Given the description of an element on the screen output the (x, y) to click on. 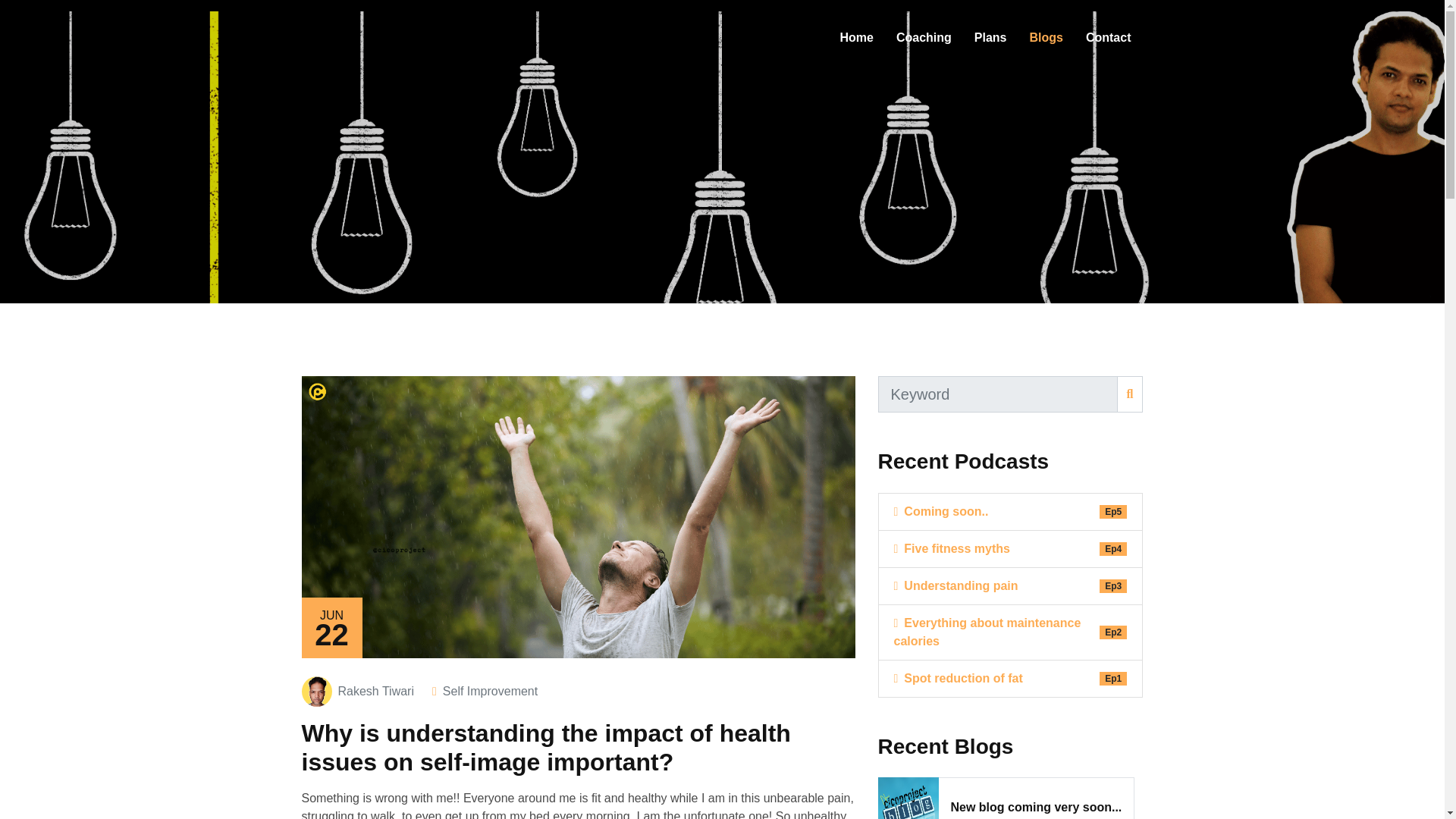
Understanding pain (955, 586)
Plans (989, 37)
Spot reduction of fat (957, 678)
Everything about maintenance calories (996, 632)
New blog coming very soon... (1036, 807)
Five fitness myths (951, 548)
Blogs (1045, 37)
Home (855, 37)
Coaching (923, 37)
Contact (1108, 37)
Coming soon.. (940, 511)
Self Improvement (489, 691)
Rakesh Tiwari (375, 691)
